Given the description of an element on the screen output the (x, y) to click on. 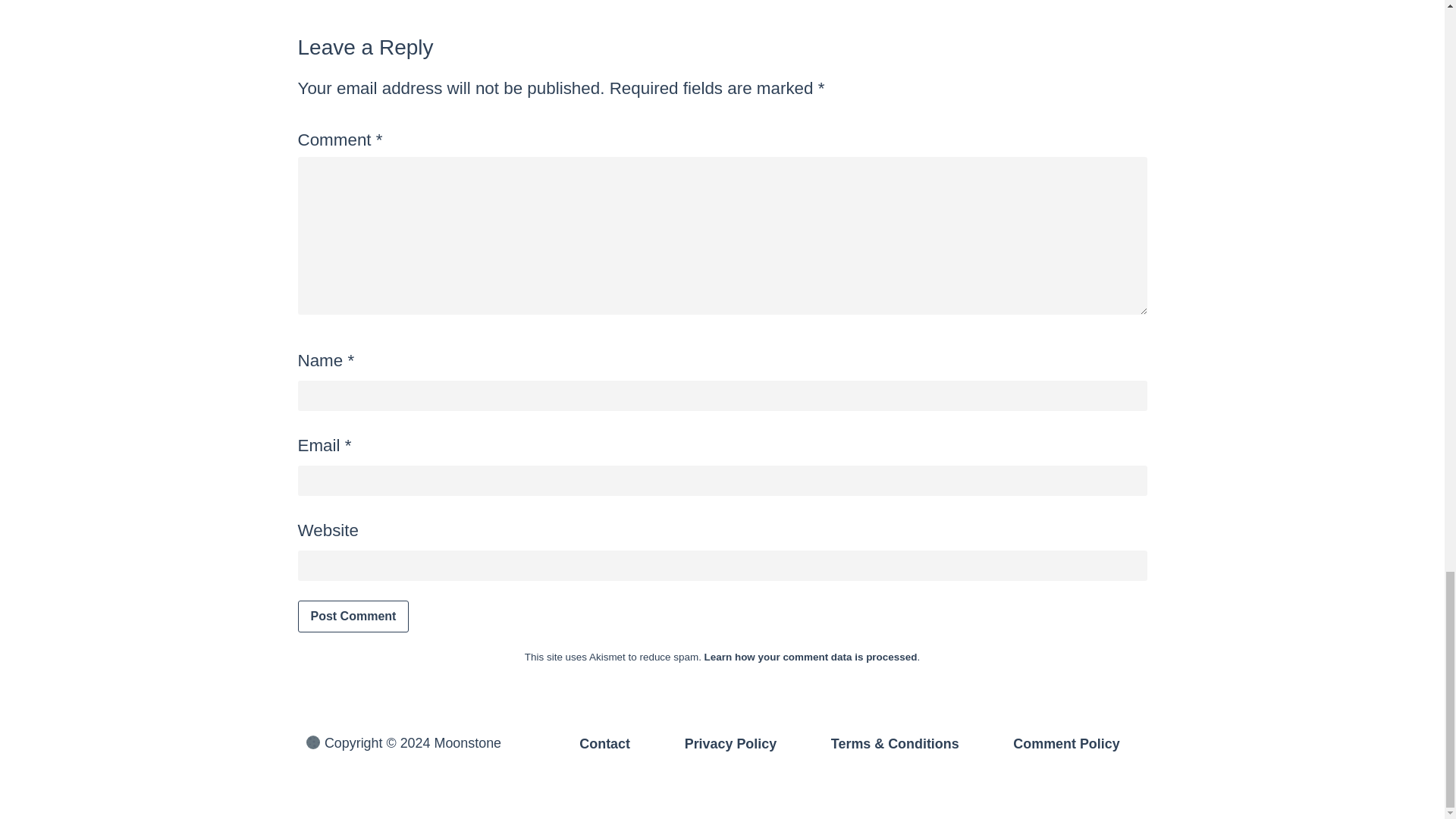
Post Comment (353, 616)
Comment Policy (1067, 743)
Contact (603, 743)
Learn how your comment data is processed (810, 656)
Privacy Policy (730, 743)
Post Comment (353, 616)
